Given the description of an element on the screen output the (x, y) to click on. 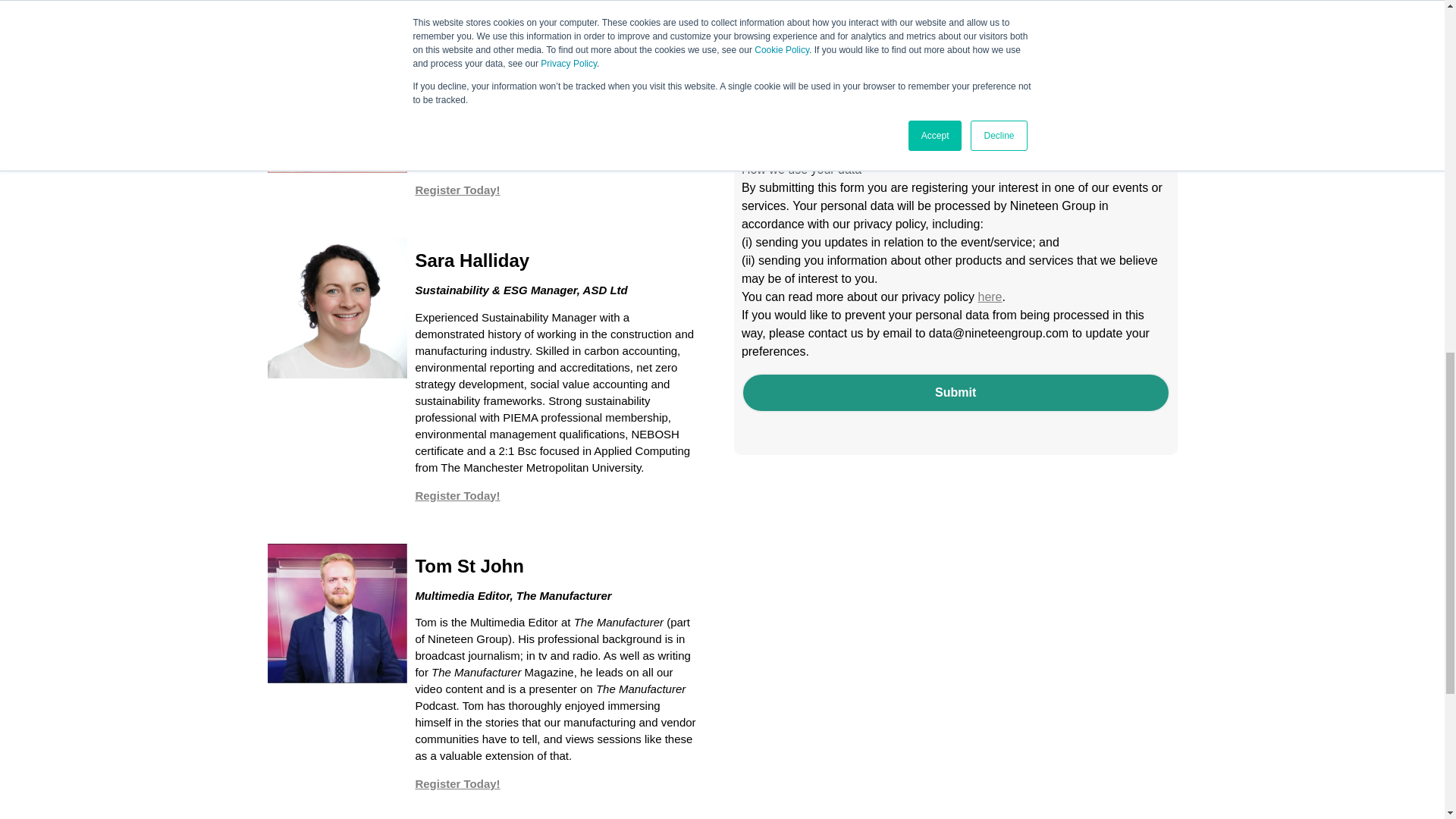
this link (1012, 139)
Sara Halliday (336, 308)
Submit (955, 392)
here (988, 296)
Register Today! (456, 189)
Submit (955, 392)
Both (757, 42)
Anthony Offredi (336, 102)
Register Today! (456, 783)
Solution Provider (757, 20)
Register Today! (456, 495)
Manufacturer (757, 2)
